Given the description of an element on the screen output the (x, y) to click on. 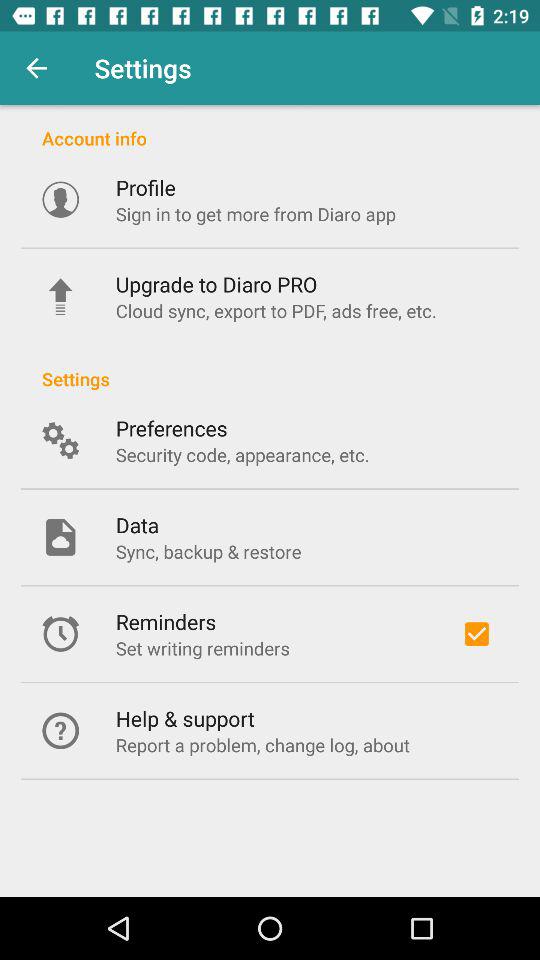
flip to the account info item (270, 127)
